Given the description of an element on the screen output the (x, y) to click on. 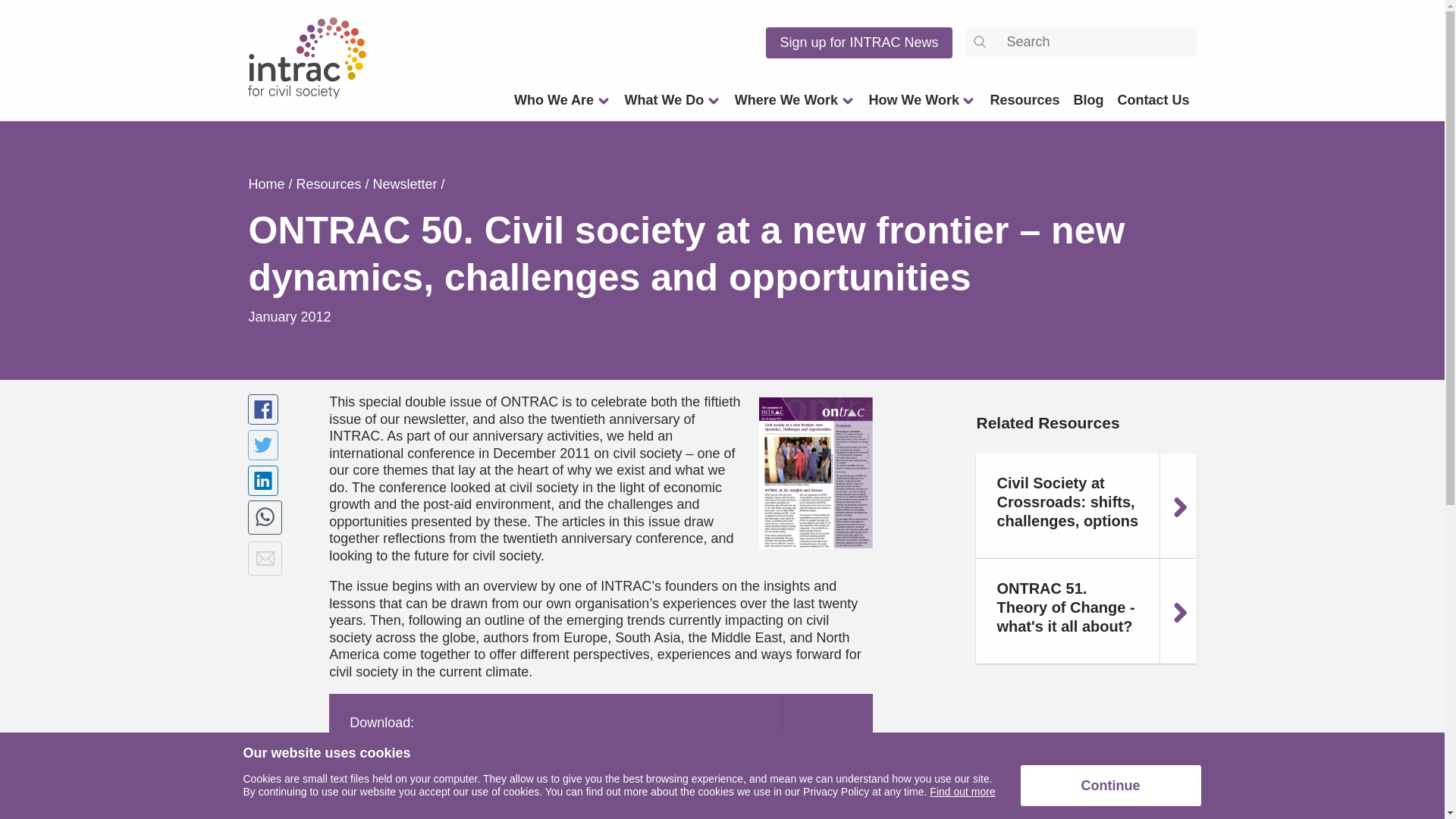
Find out more (962, 791)
Find out more (962, 791)
Sign up for INTRAC News (858, 42)
Share by Email (264, 558)
Continue (1110, 785)
